Given the description of an element on the screen output the (x, y) to click on. 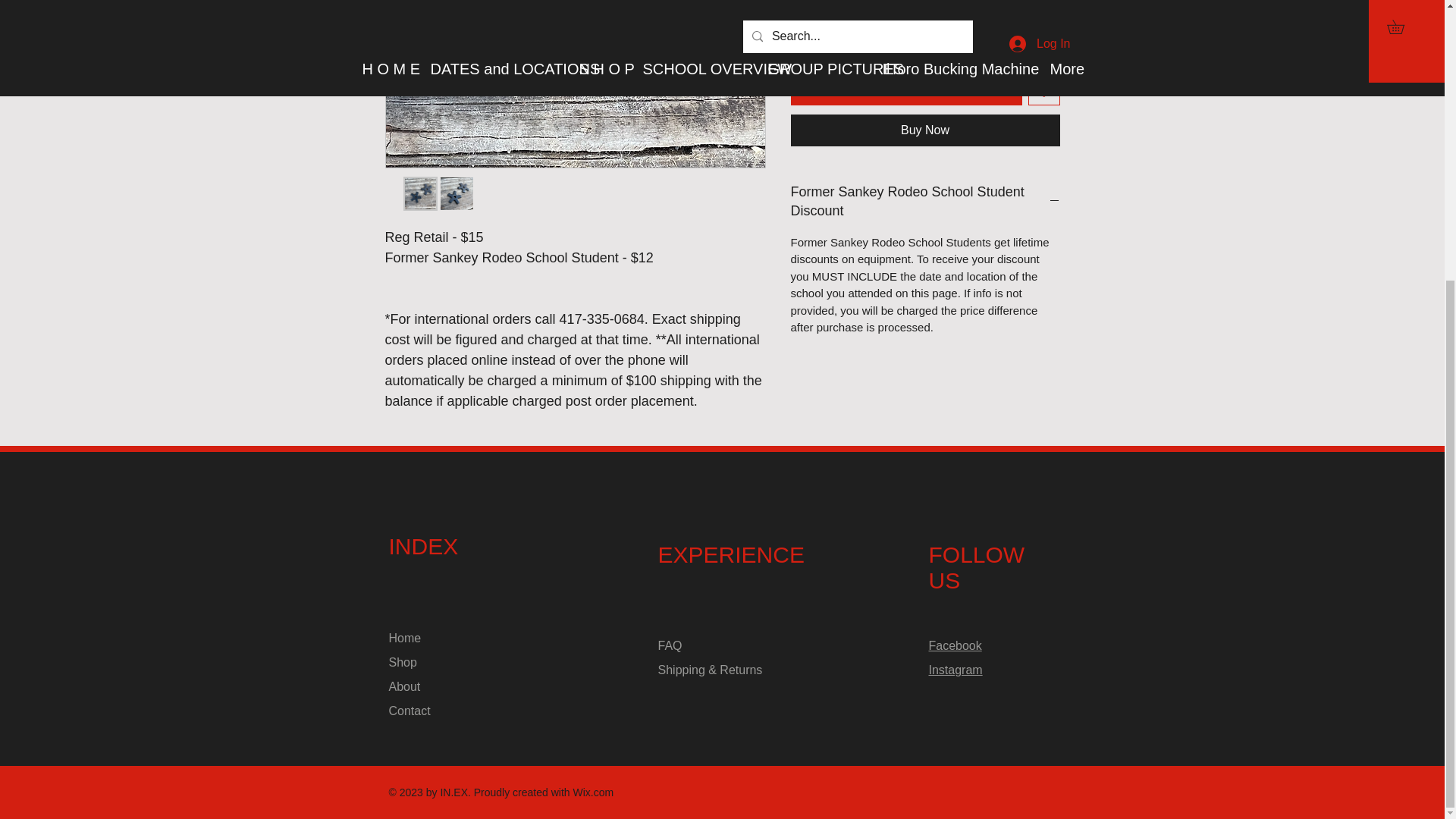
Instagram (954, 669)
Home (404, 637)
Add to Cart (906, 89)
Former Sankey Rodeo School Student Discount (924, 201)
About (404, 686)
Shop (402, 662)
Contact (408, 710)
1 (823, 33)
Buy Now (924, 130)
Facebook (954, 645)
FAQ (670, 645)
Wix.com (593, 792)
